Given the description of an element on the screen output the (x, y) to click on. 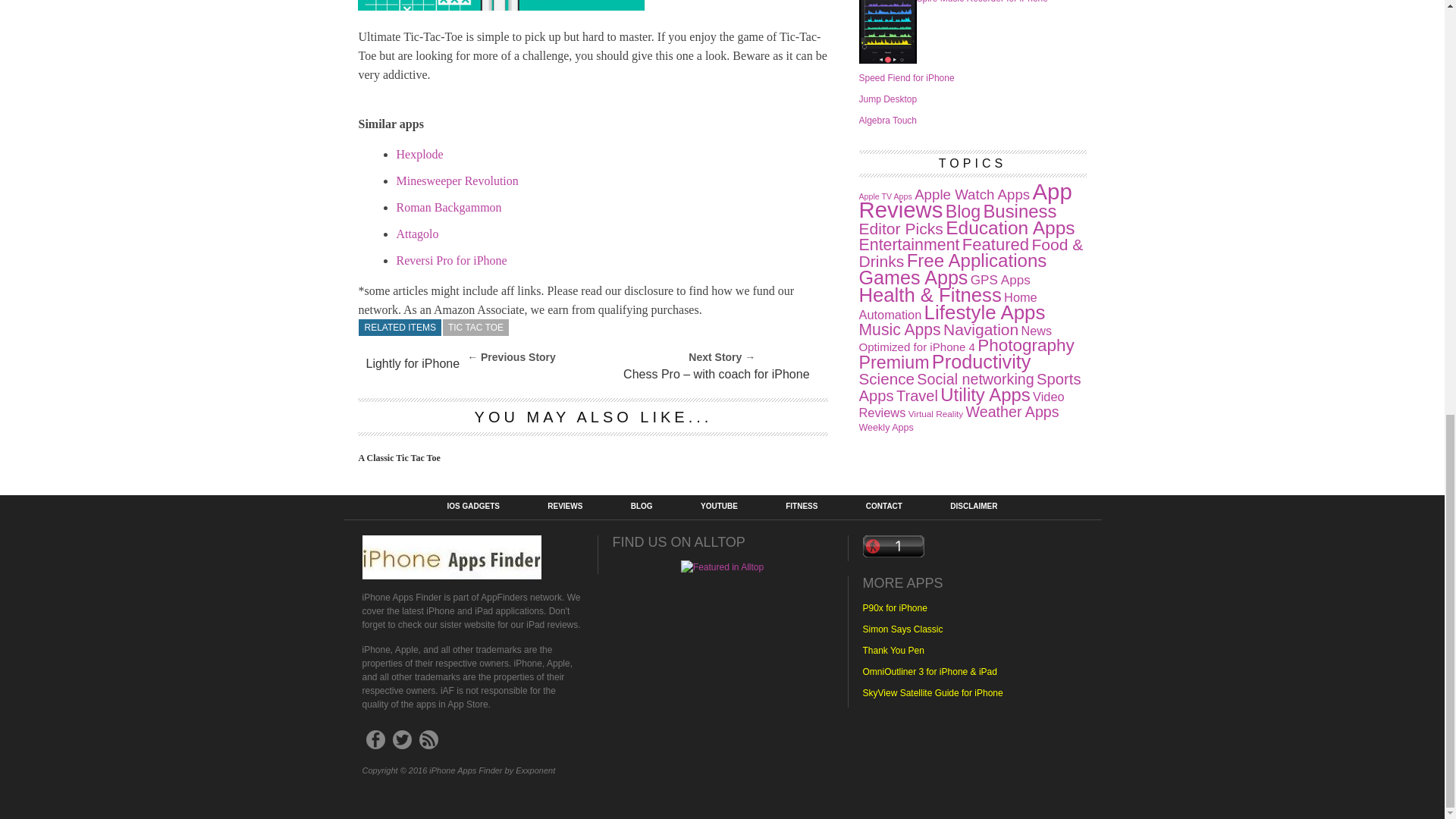
Attagolo (417, 233)
Reversi Pro for iPhone (451, 259)
Hexplode (419, 154)
Roman Backgammon (448, 206)
Minesweeper Revolution (457, 180)
